Given the description of an element on the screen output the (x, y) to click on. 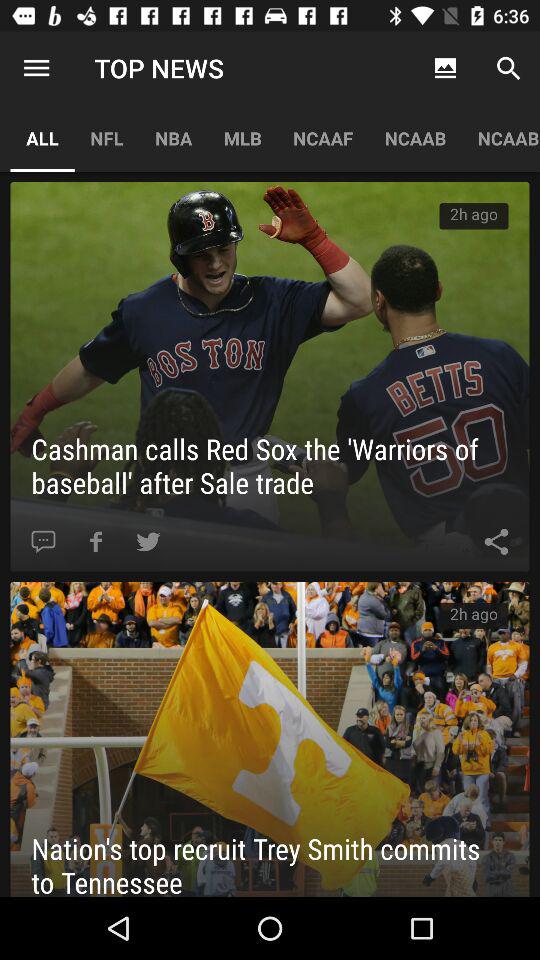
open the app above all icon (36, 68)
